Given the description of an element on the screen output the (x, y) to click on. 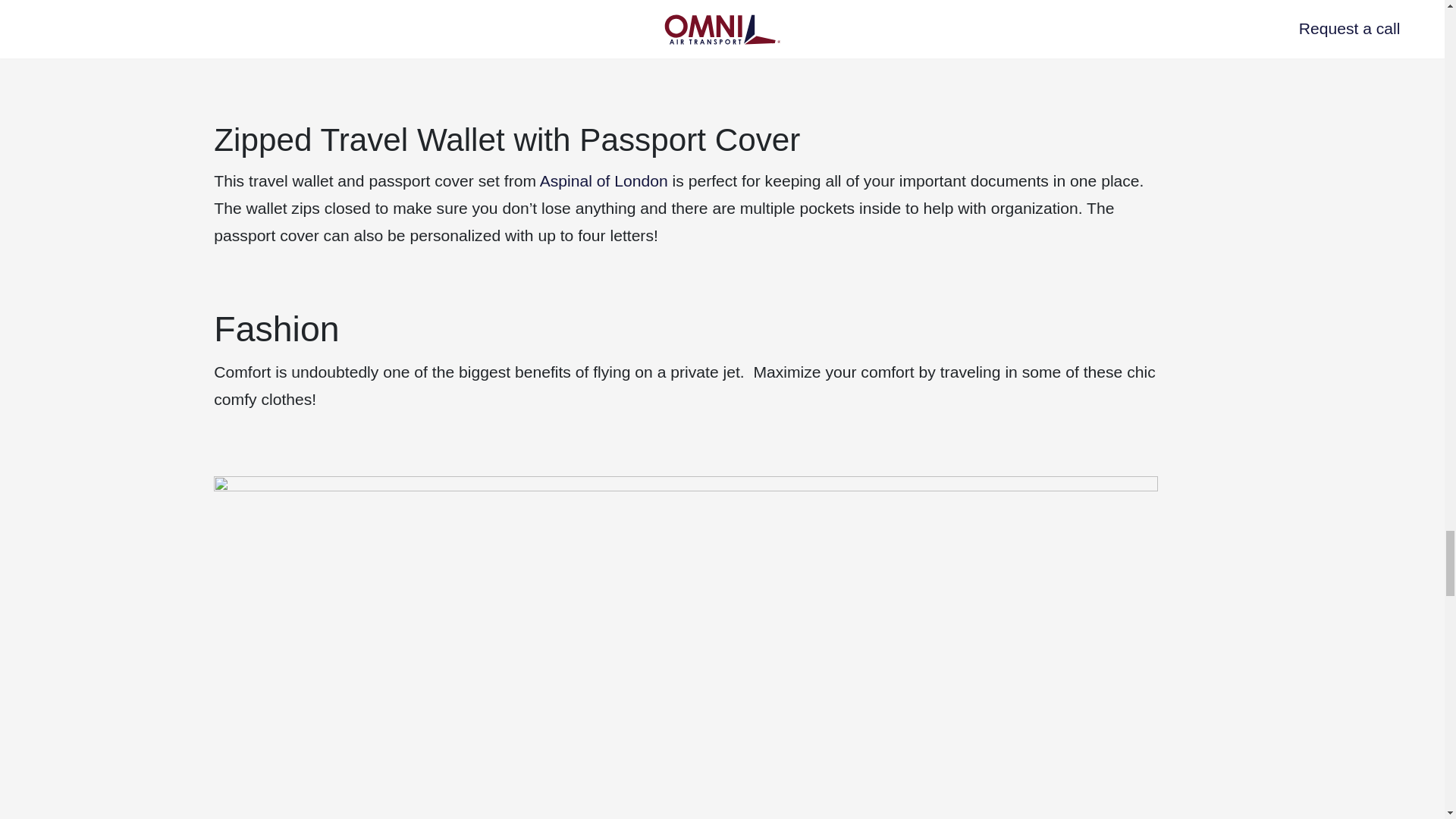
Aspinal of London (604, 180)
